Given the description of an element on the screen output the (x, y) to click on. 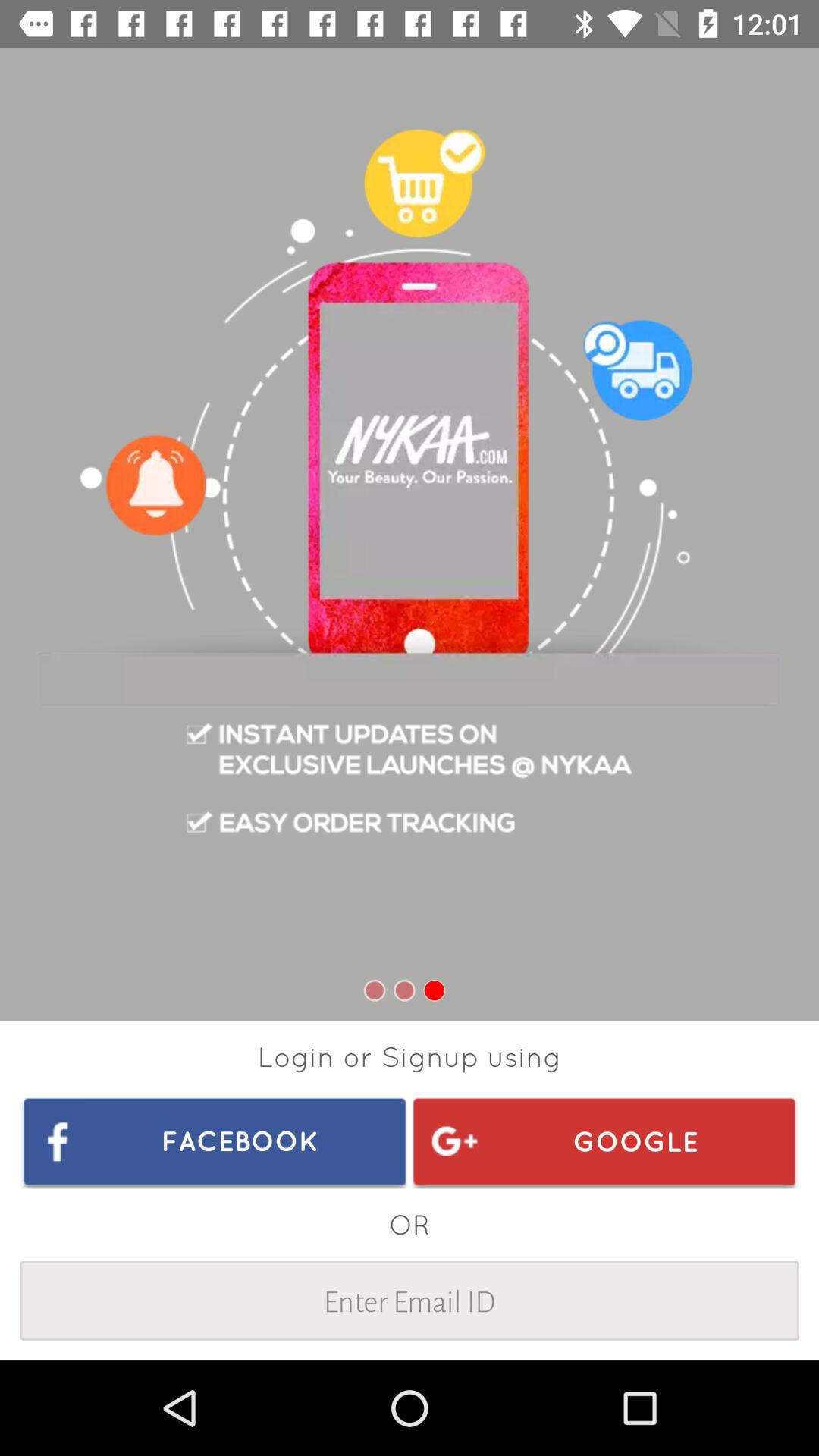
turn on item to the left of google icon (214, 1140)
